Given the description of an element on the screen output the (x, y) to click on. 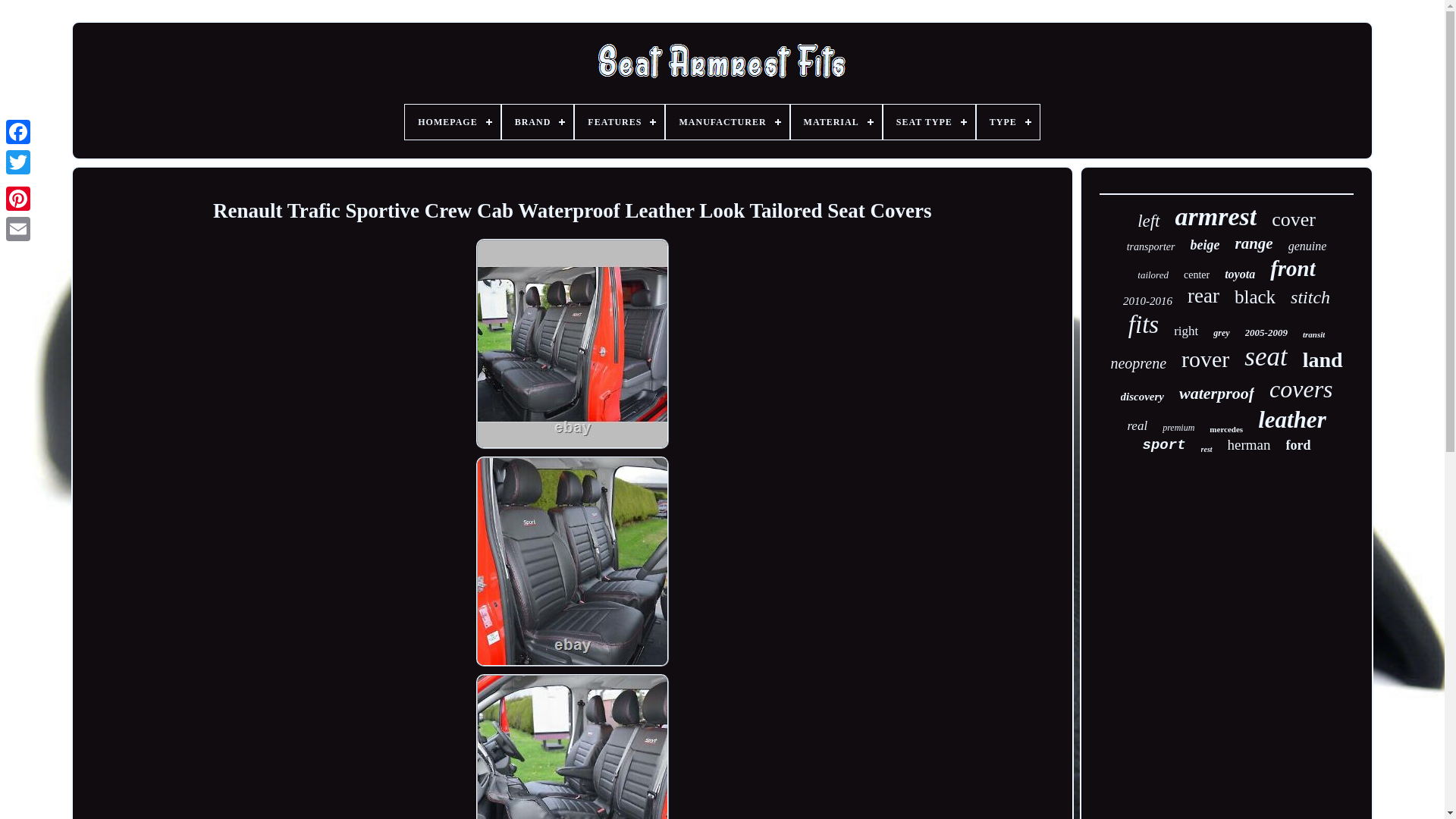
BRAND (537, 121)
HOMEPAGE (451, 121)
FEATURES (619, 121)
MANUFACTURER (727, 121)
